Given the description of an element on the screen output the (x, y) to click on. 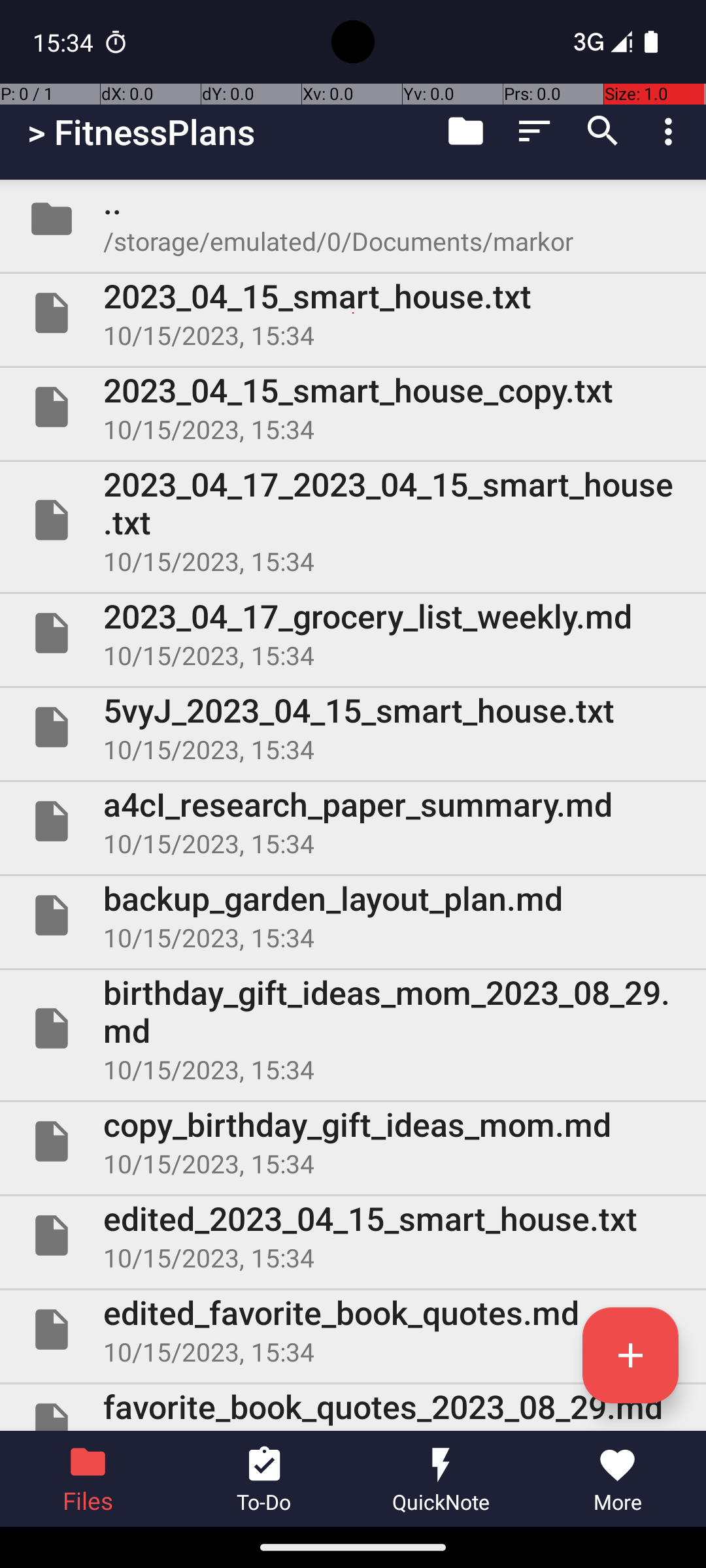
> FitnessPlans Element type: android.widget.TextView (140, 131)
File 2023_04_15_smart_house.txt 10/15/2023, 15:34 Element type: android.widget.LinearLayout (353, 312)
File 2023_04_15_smart_house_copy.txt 10/15/2023, 15:34 Element type: android.widget.LinearLayout (353, 406)
File 2023_04_17_2023_04_15_smart_house.txt  Element type: android.widget.LinearLayout (353, 519)
File 2023_04_17_grocery_list_weekly.md  Element type: android.widget.LinearLayout (353, 632)
File 5vyJ_2023_04_15_smart_house.txt  Element type: android.widget.LinearLayout (353, 726)
File a4cI_research_paper_summary.md  Element type: android.widget.LinearLayout (353, 821)
File backup_garden_layout_plan.md  Element type: android.widget.LinearLayout (353, 915)
File birthday_gift_ideas_mom_2023_08_29.md  Element type: android.widget.LinearLayout (353, 1028)
File copy_birthday_gift_ideas_mom.md  Element type: android.widget.LinearLayout (353, 1141)
File edited_2023_04_15_smart_house.txt  Element type: android.widget.LinearLayout (353, 1235)
File edited_favorite_book_quotes.md  Element type: android.widget.LinearLayout (353, 1329)
File favorite_book_quotes_2023_08_29.md  Element type: android.widget.LinearLayout (353, 1407)
